Given the description of an element on the screen output the (x, y) to click on. 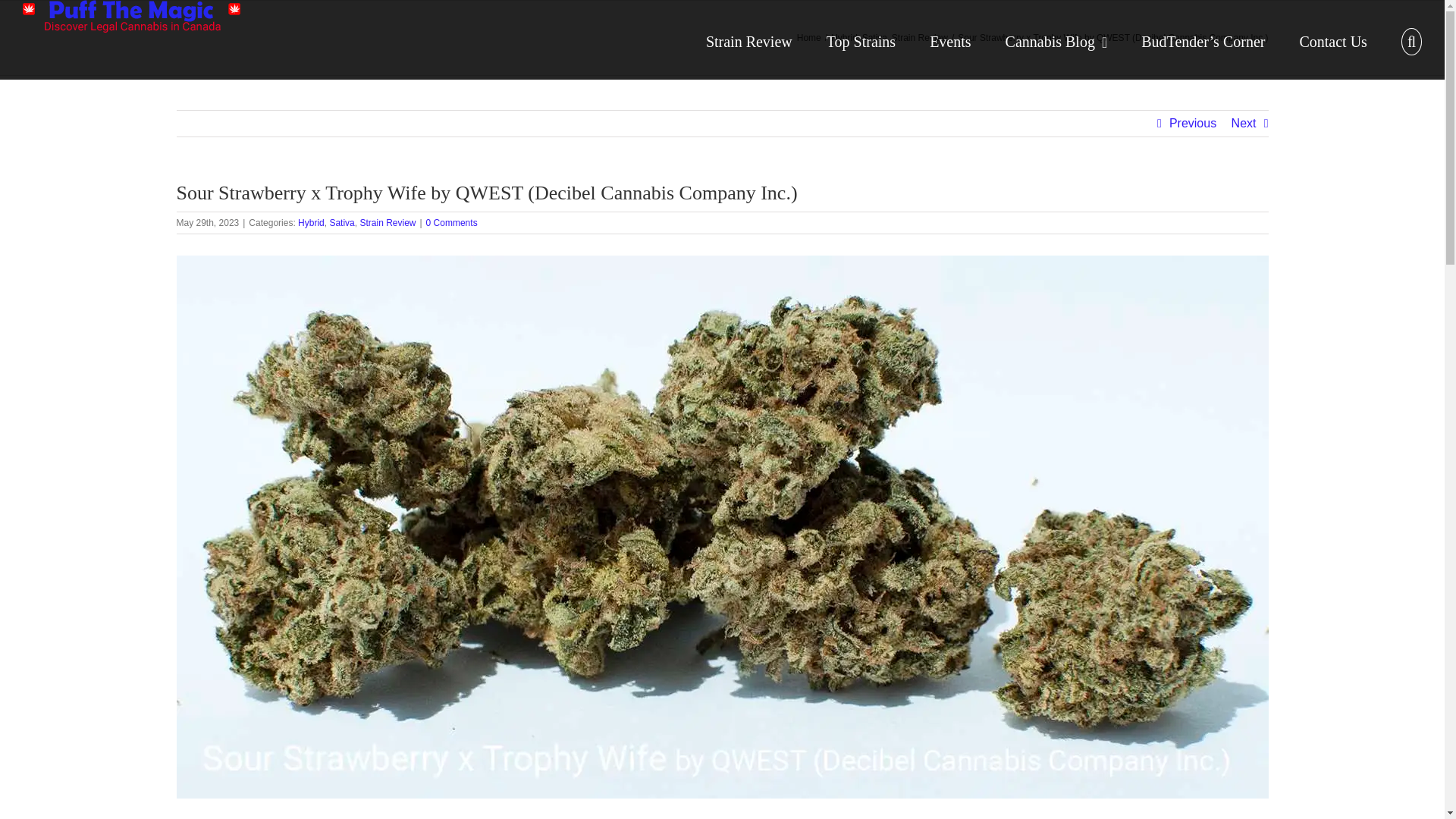
Home (808, 37)
Strain Review (919, 37)
Cannabis Blog (1057, 39)
Strain Review (749, 39)
Hybrid (844, 37)
Sativa (873, 37)
